Given the description of an element on the screen output the (x, y) to click on. 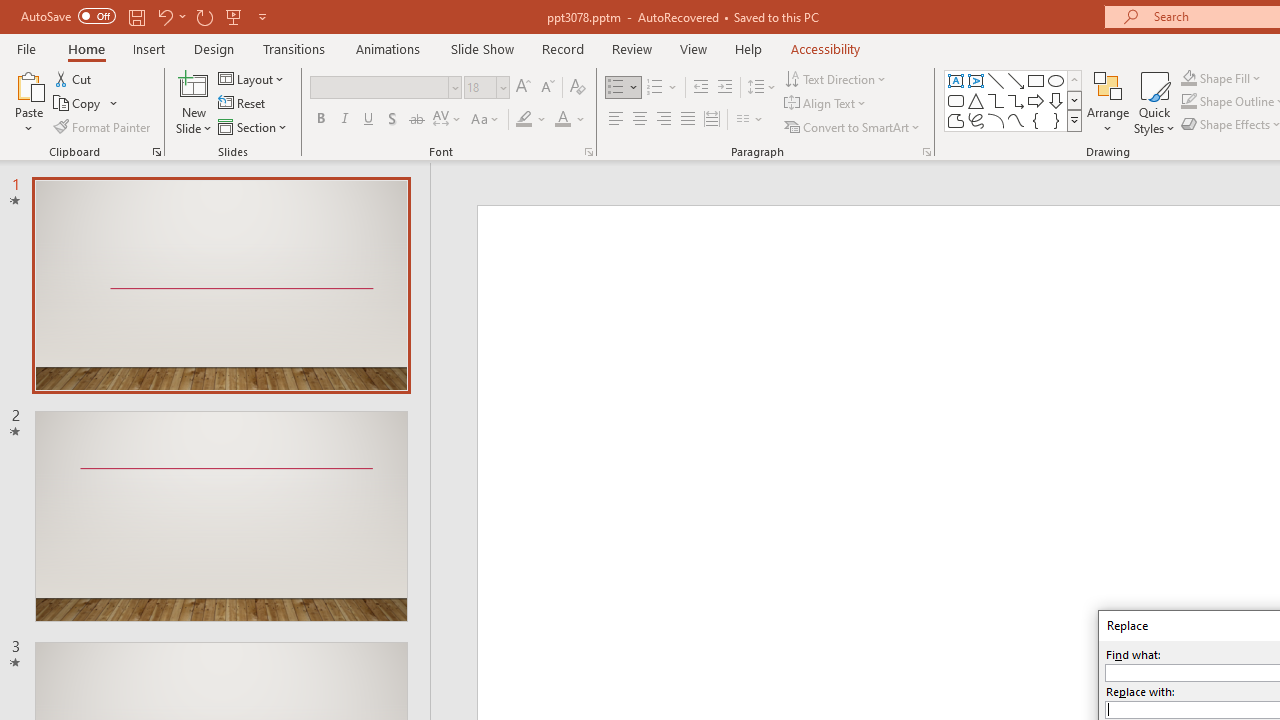
Line Arrow (1016, 80)
Curve (1016, 120)
Arrange (1108, 102)
Decrease Font Size (547, 87)
Slide (221, 515)
Character Spacing (447, 119)
Shape Fill (1221, 78)
Copy (85, 103)
Cut (73, 78)
Vertical Text Box (975, 80)
Align Text (826, 103)
Font Size (486, 87)
